Given the description of an element on the screen output the (x, y) to click on. 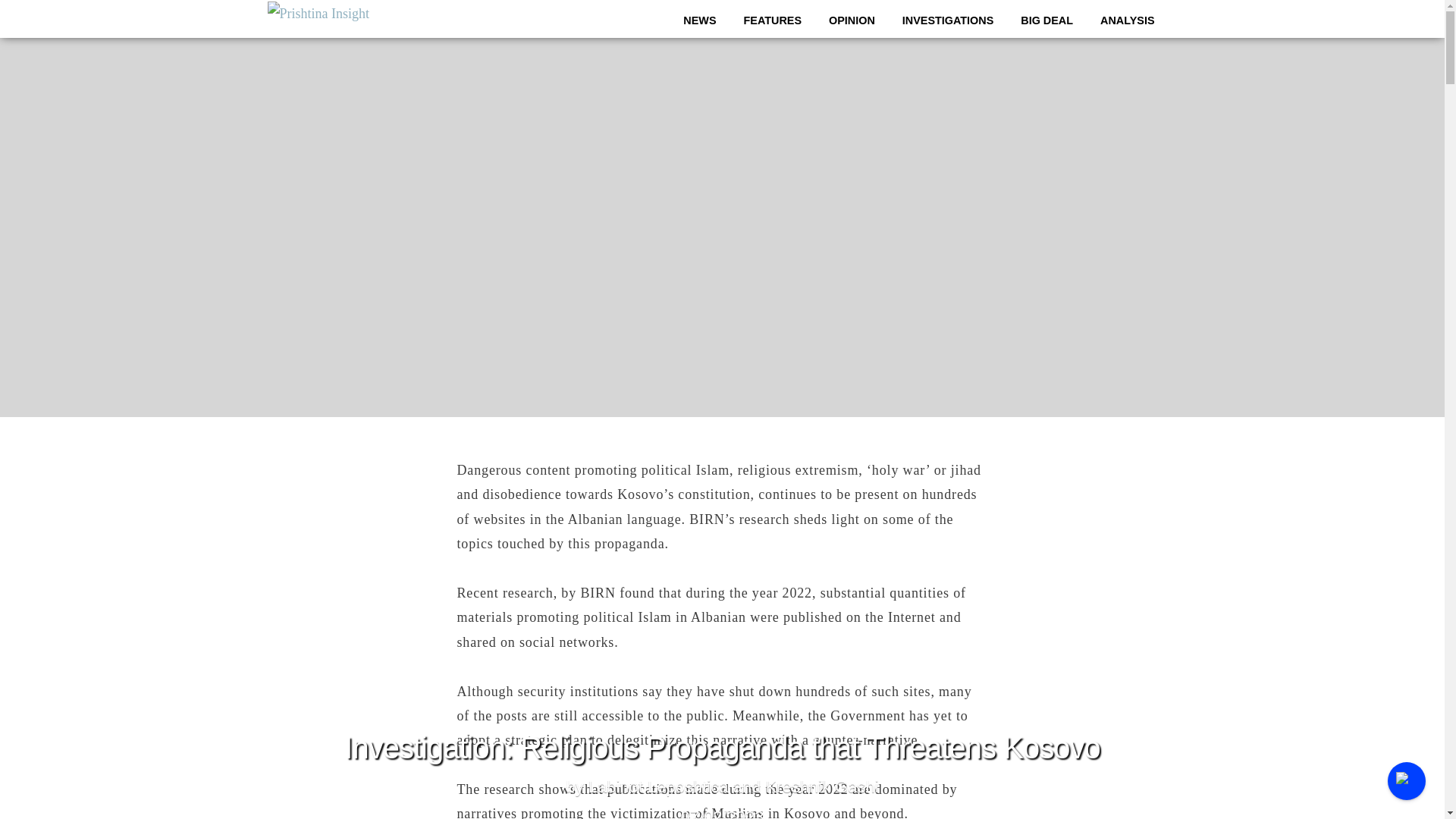
ANALYSIS (1127, 20)
BIG DEAL (1046, 20)
Kreshnik Gashi (821, 787)
FEATURES (773, 20)
OPINION (851, 20)
NEWS (699, 20)
INVESTIGATIONS (947, 20)
Posts by Labinot Leposhtica (658, 787)
Labinot Leposhtica (658, 787)
Posts by Kreshnik Gashi (821, 787)
